Given the description of an element on the screen output the (x, y) to click on. 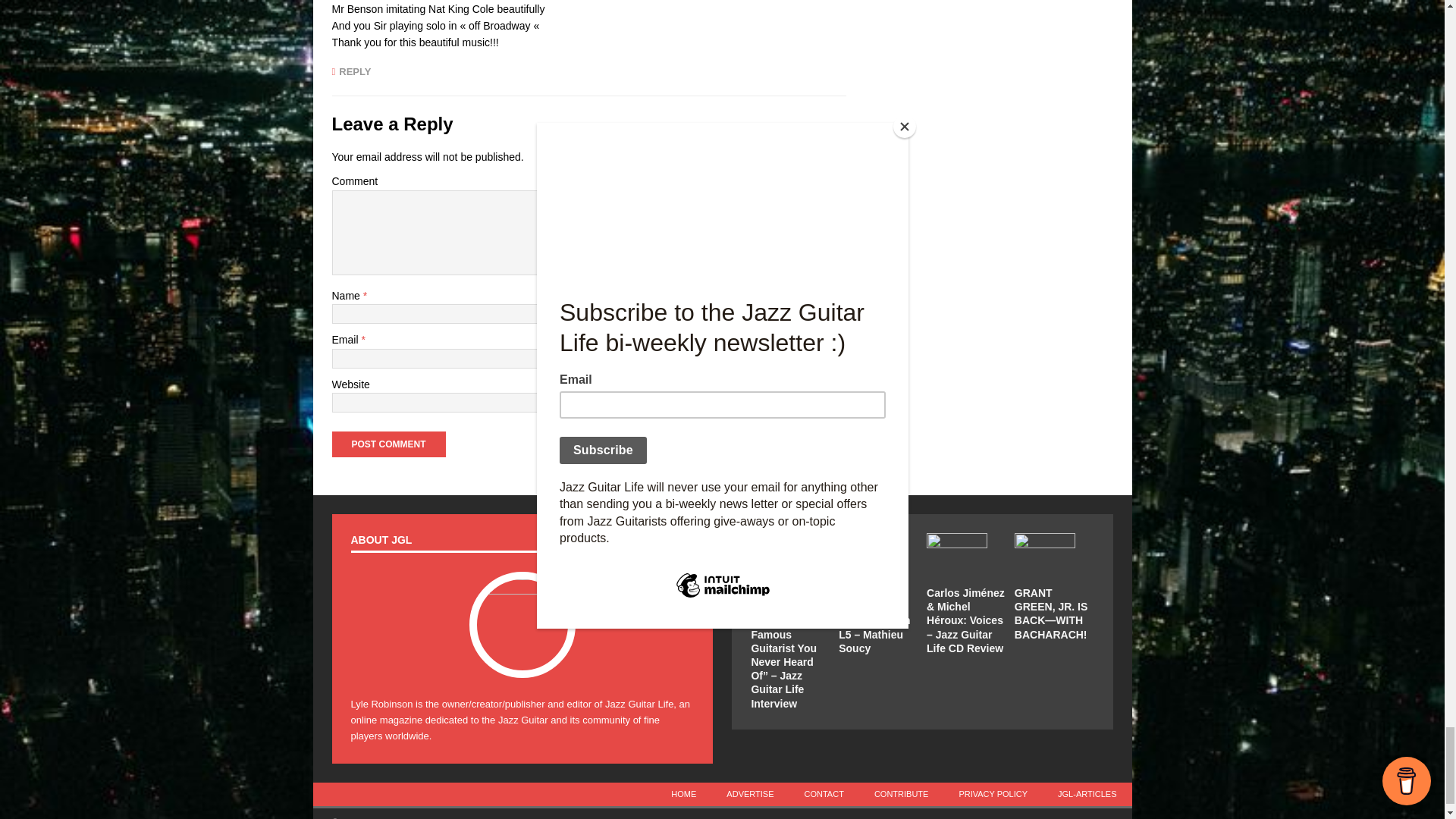
Post Comment (388, 444)
